Given the description of an element on the screen output the (x, y) to click on. 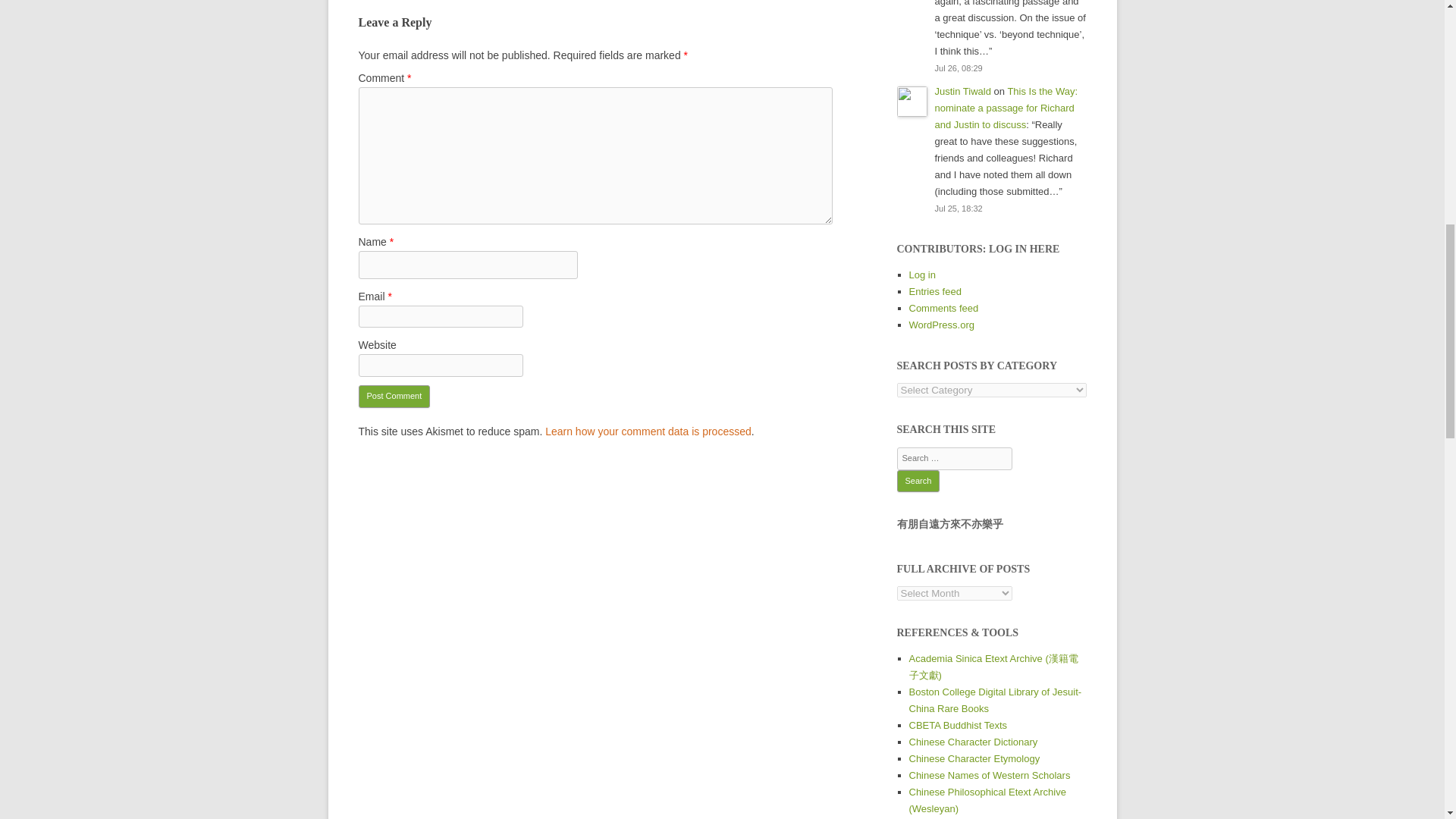
Search (917, 481)
CBETA Buddhist Texts (957, 725)
Chinese Names of Western Scholars (989, 775)
Log in (921, 274)
Justin Tiwald (962, 91)
Post Comment (393, 395)
Comments feed (943, 307)
WordPress.org (941, 324)
Post Comment (393, 395)
Chinese Character Dictionary (972, 741)
Search (917, 481)
Entries feed (934, 291)
Search (917, 481)
Chinese Buddhist Electronic Text Association (957, 725)
